Given the description of an element on the screen output the (x, y) to click on. 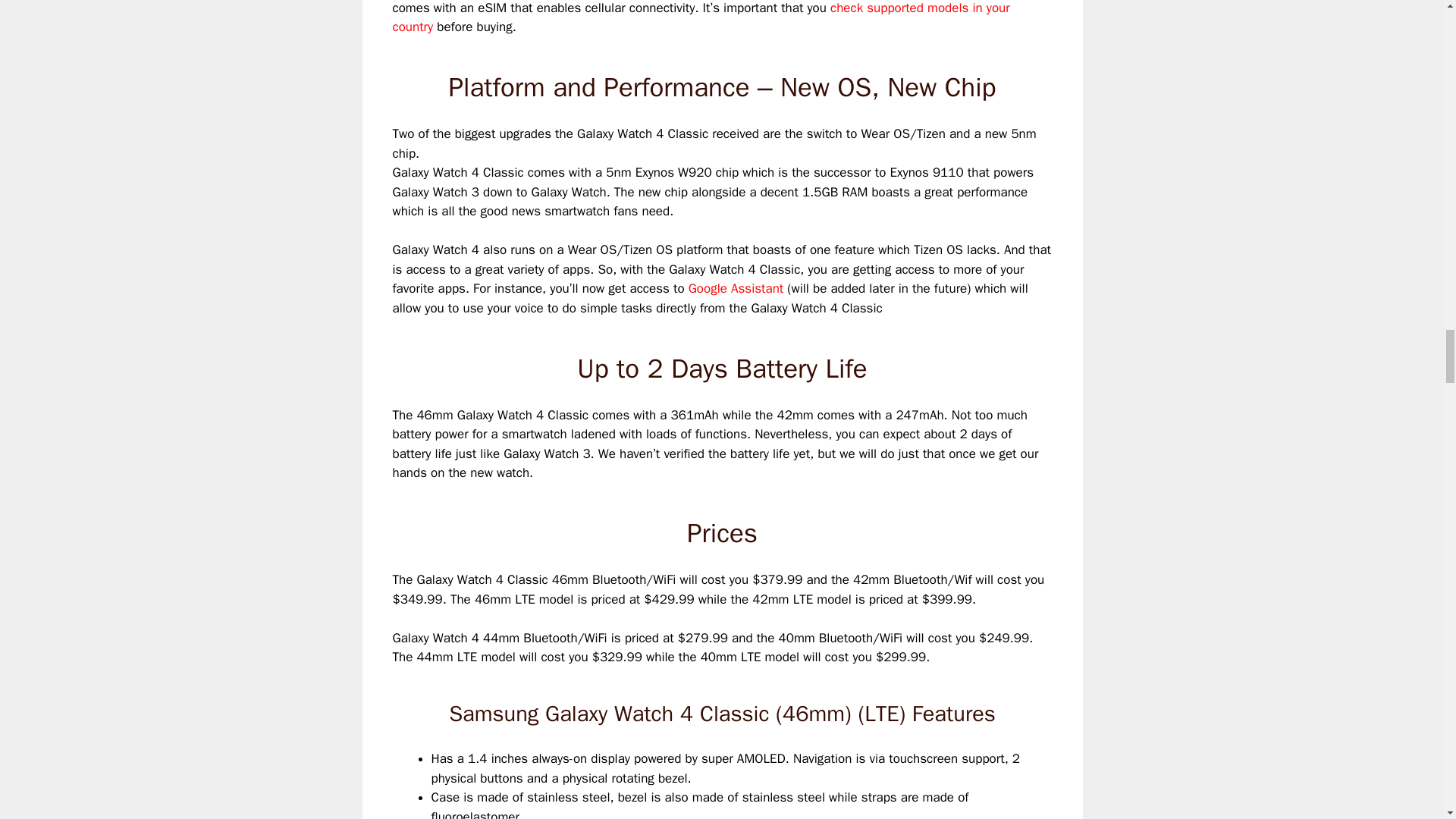
Google Assistant (736, 288)
